Given the description of an element on the screen output the (x, y) to click on. 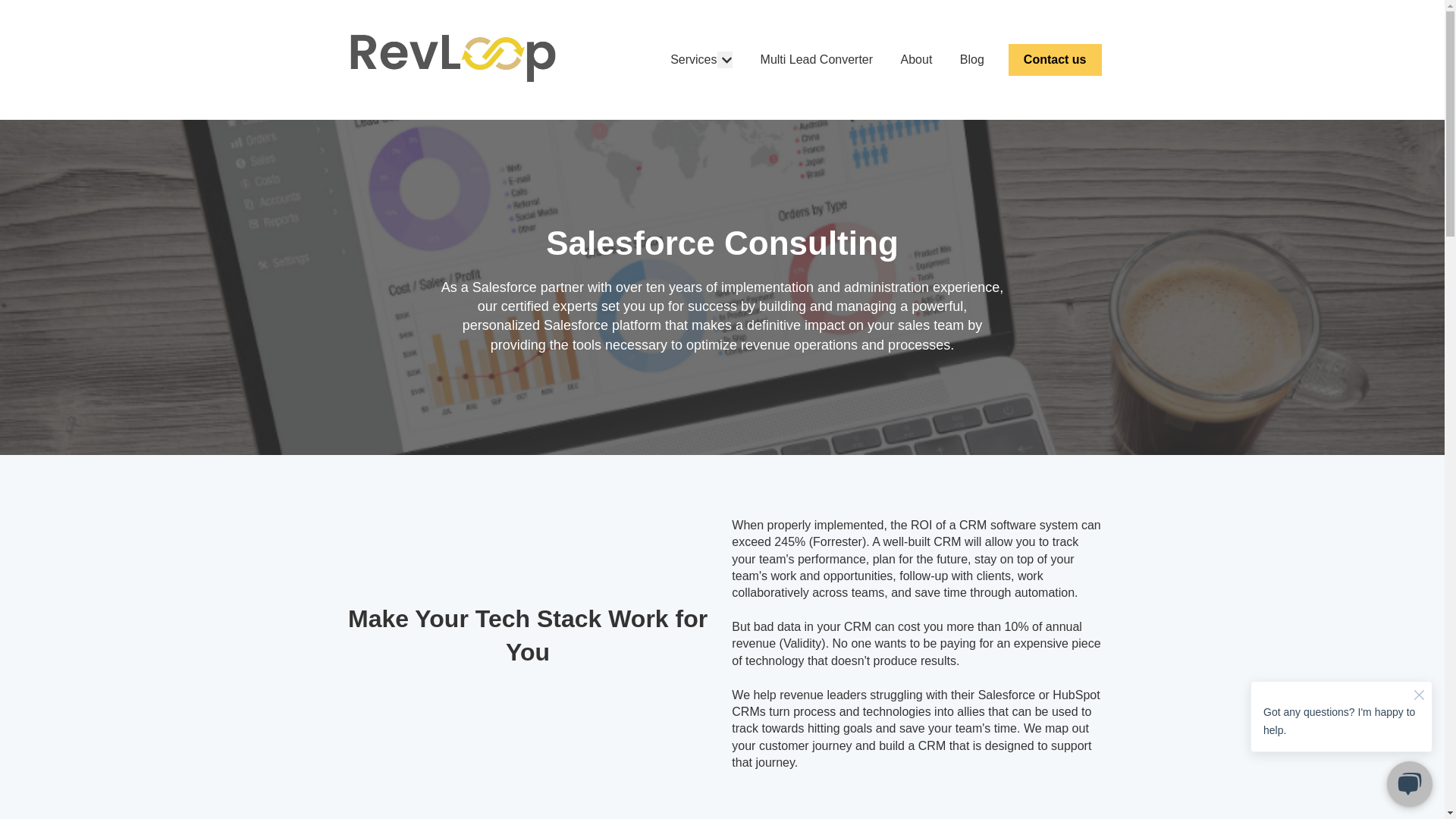
Services (692, 59)
Show submenu for Services (725, 59)
Contact us (1055, 60)
Blog (971, 59)
About (917, 59)
Multi Lead Converter (816, 59)
